Given the description of an element on the screen output the (x, y) to click on. 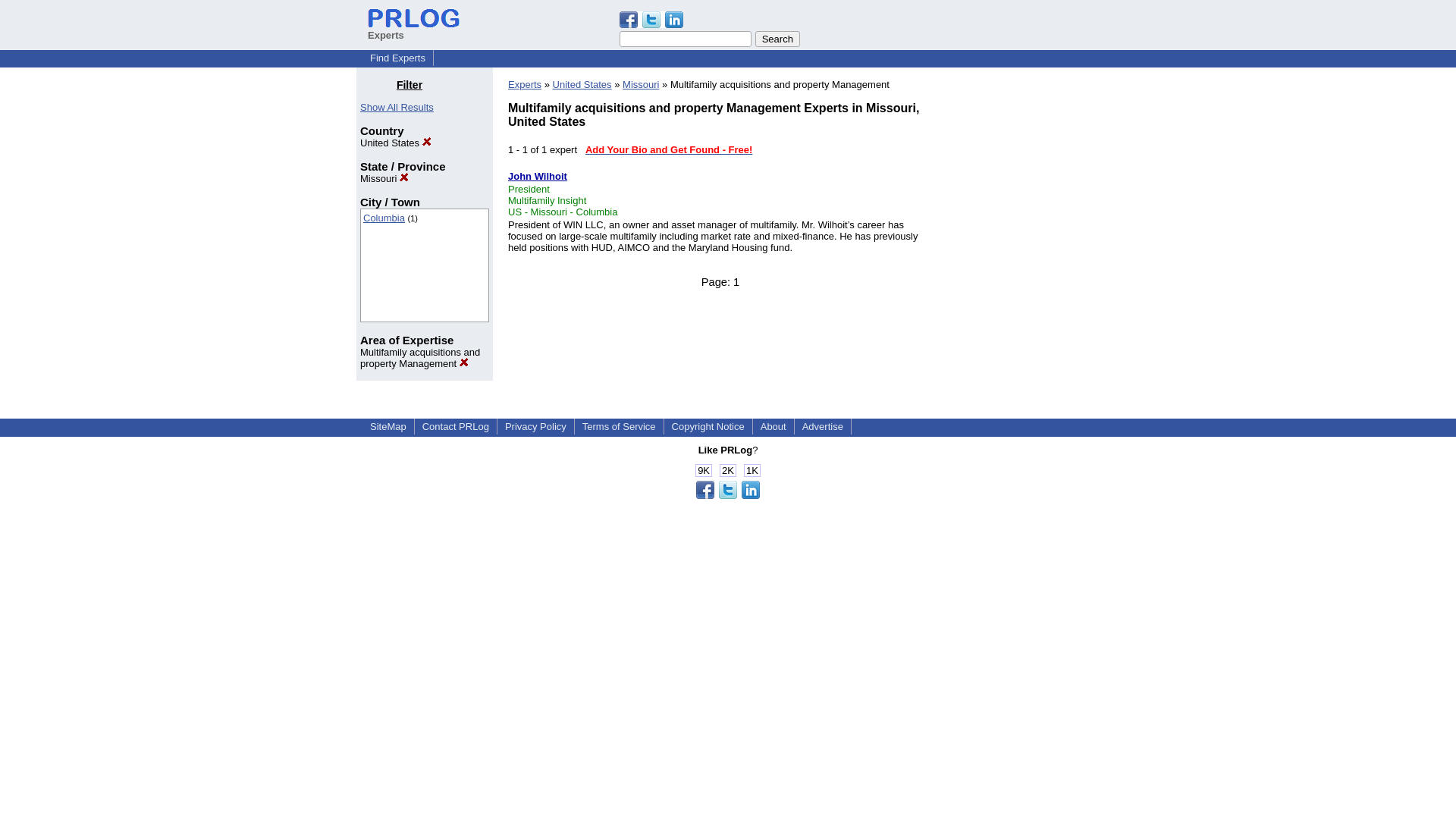
Columbia (383, 217)
Copyright Notice (708, 426)
Missouri (384, 178)
Contact PRLog (455, 426)
United States (582, 84)
Experts (524, 84)
Click to remove this filter (419, 357)
Find Experts (397, 57)
John Wilhoit (537, 175)
Show All Results (396, 107)
Terms of Service (619, 426)
Share this page! (727, 495)
Search (777, 38)
Missouri (641, 84)
Click on an option to filter or browse by that option (424, 265)
